Given the description of an element on the screen output the (x, y) to click on. 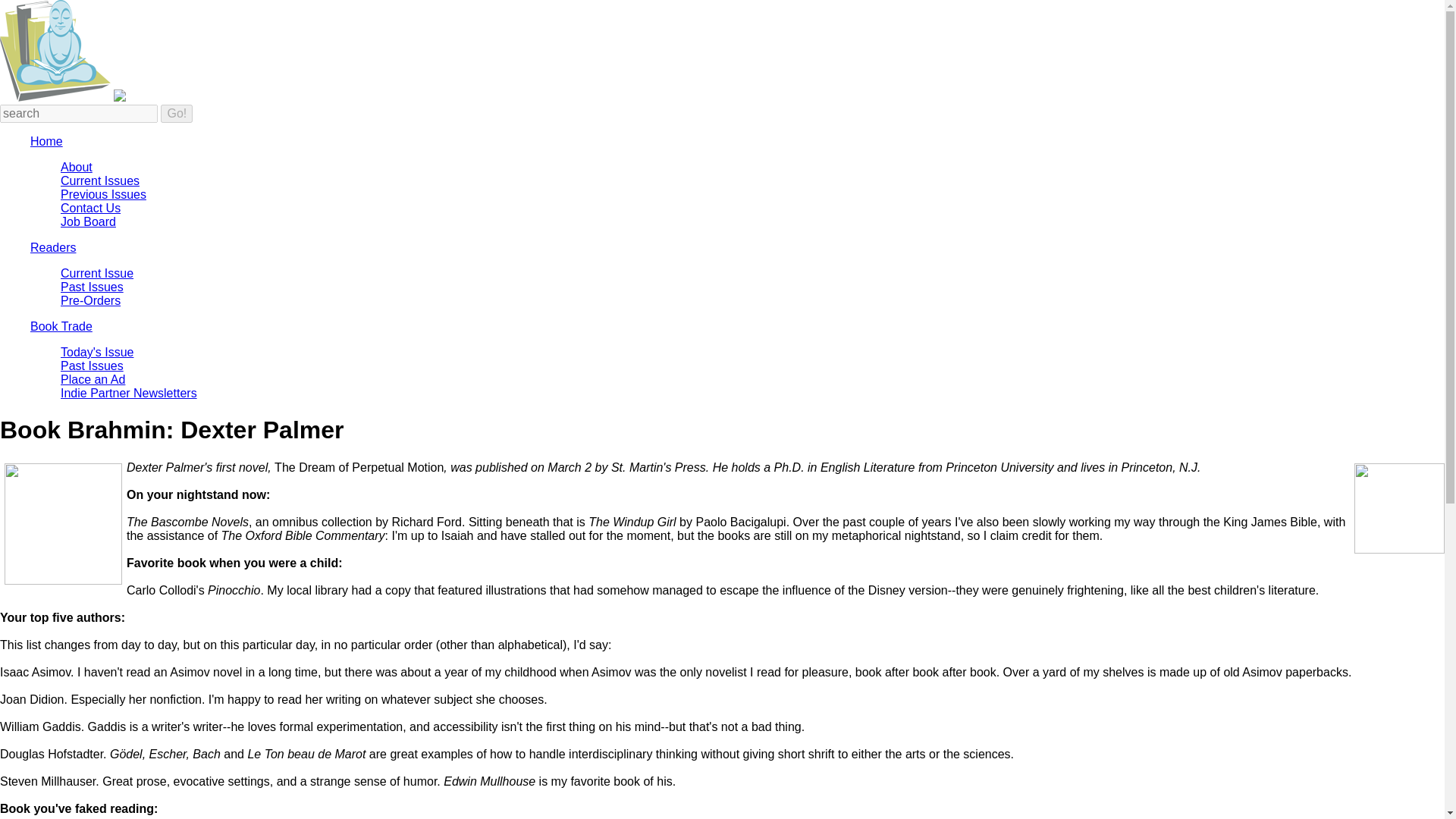
Job Board (88, 221)
Current Issues (100, 180)
Previous Issues (104, 194)
Readers (52, 246)
Current Issue (97, 273)
Past Issues (92, 365)
Go! (176, 113)
Past Issues (92, 286)
Today's Issue (97, 351)
About (77, 166)
